Given the description of an element on the screen output the (x, y) to click on. 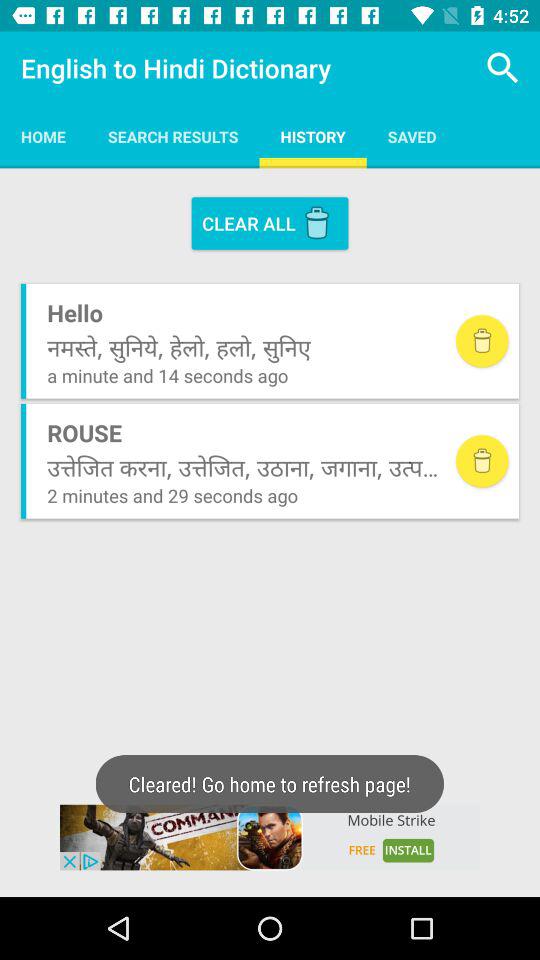
delete file (482, 341)
